Given the description of an element on the screen output the (x, y) to click on. 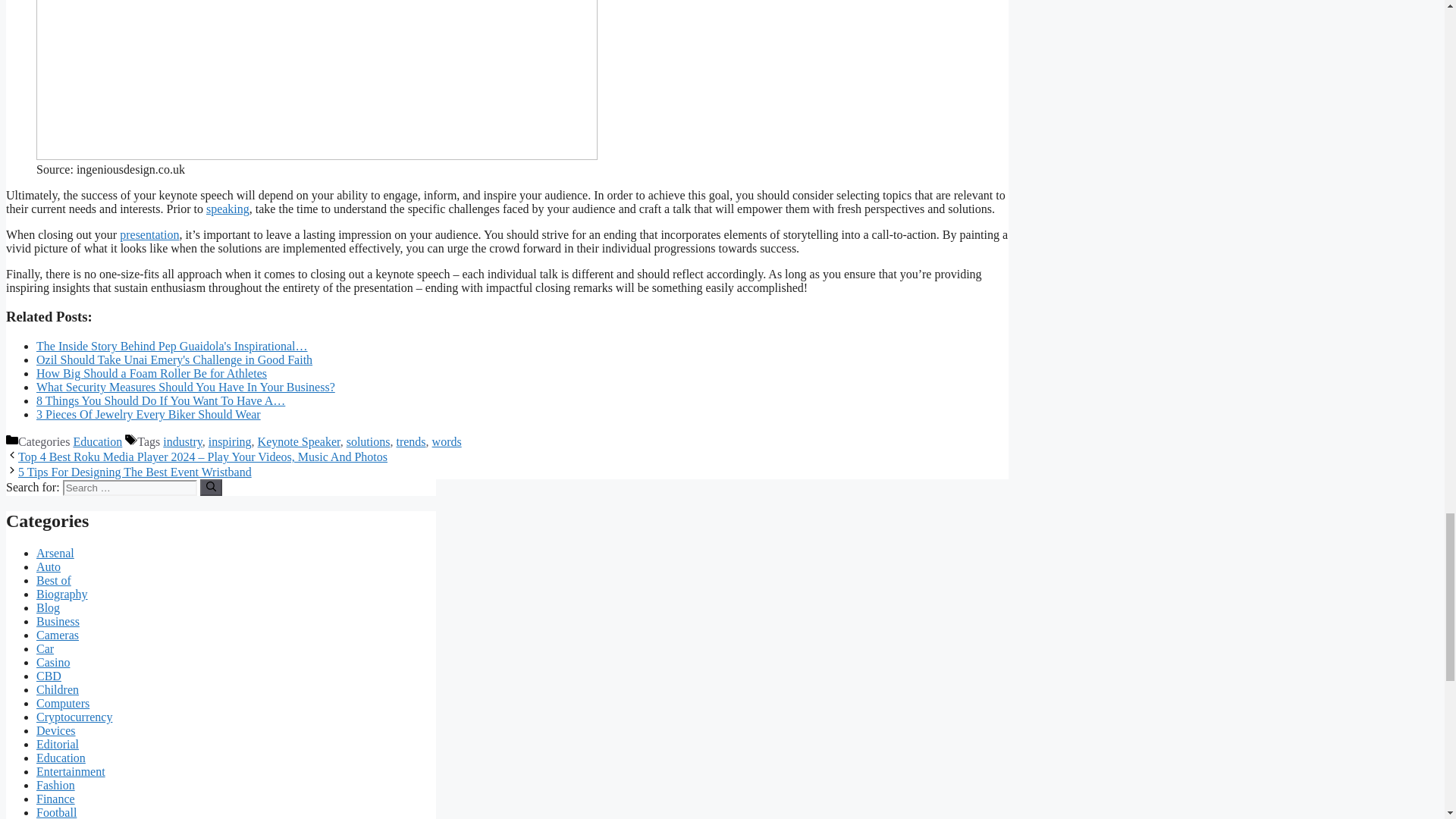
Business (58, 621)
Blog (47, 607)
What Security Measures Should You Have In Your Business? (185, 386)
trends (410, 440)
Auto (48, 566)
Education (97, 440)
Cameras (57, 634)
Arsenal (55, 553)
Car (44, 648)
Best of (53, 580)
CBD (48, 675)
Keynote Speaker (298, 440)
How Big Should a Foam Roller Be for Athletes (151, 373)
Casino (52, 662)
Search for: (129, 487)
